Given the description of an element on the screen output the (x, y) to click on. 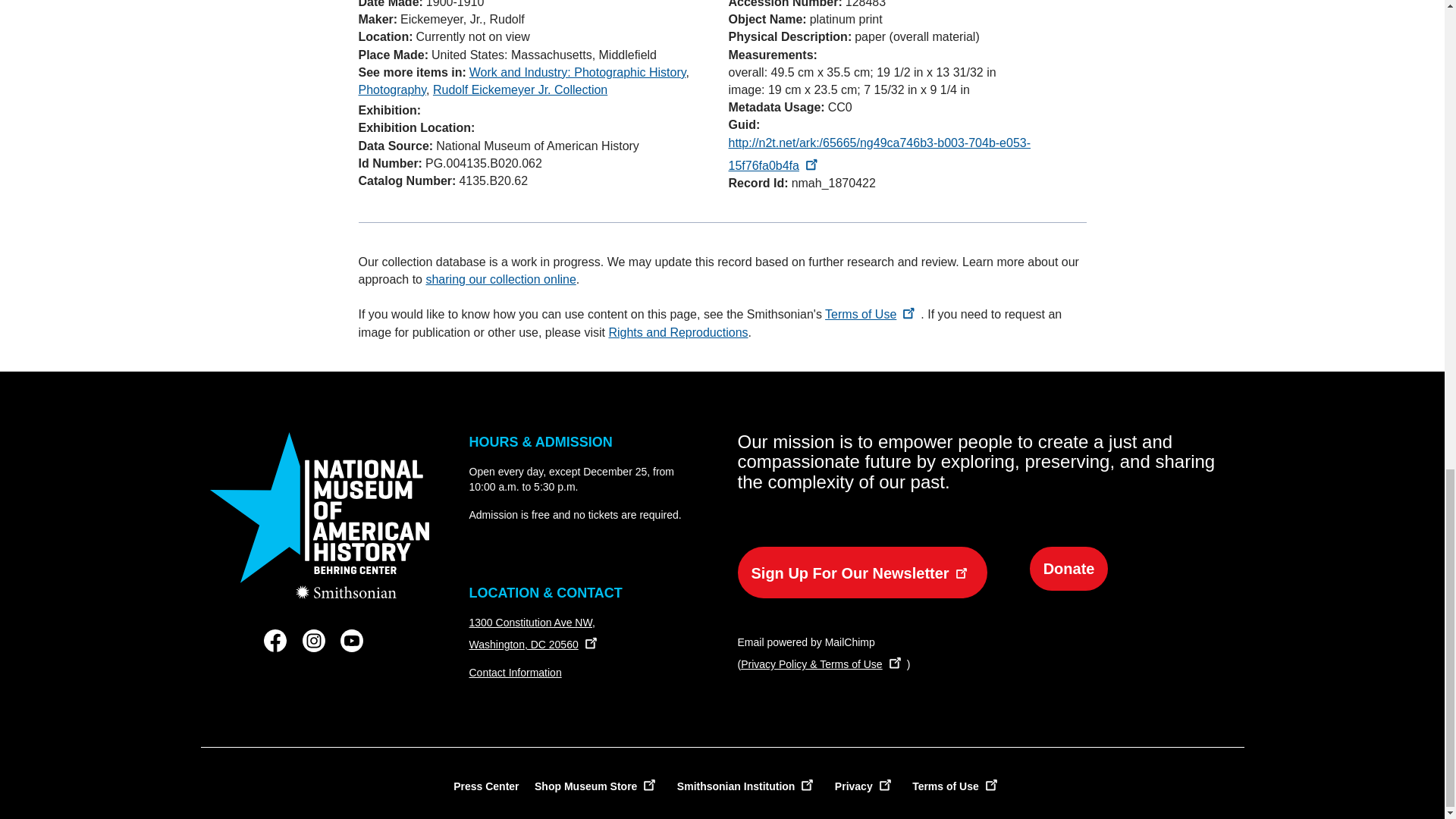
Photography (392, 89)
Work and Industry: Photographic History (576, 72)
Rudolf Eickemeyer Jr. Collection (519, 89)
